Given the description of an element on the screen output the (x, y) to click on. 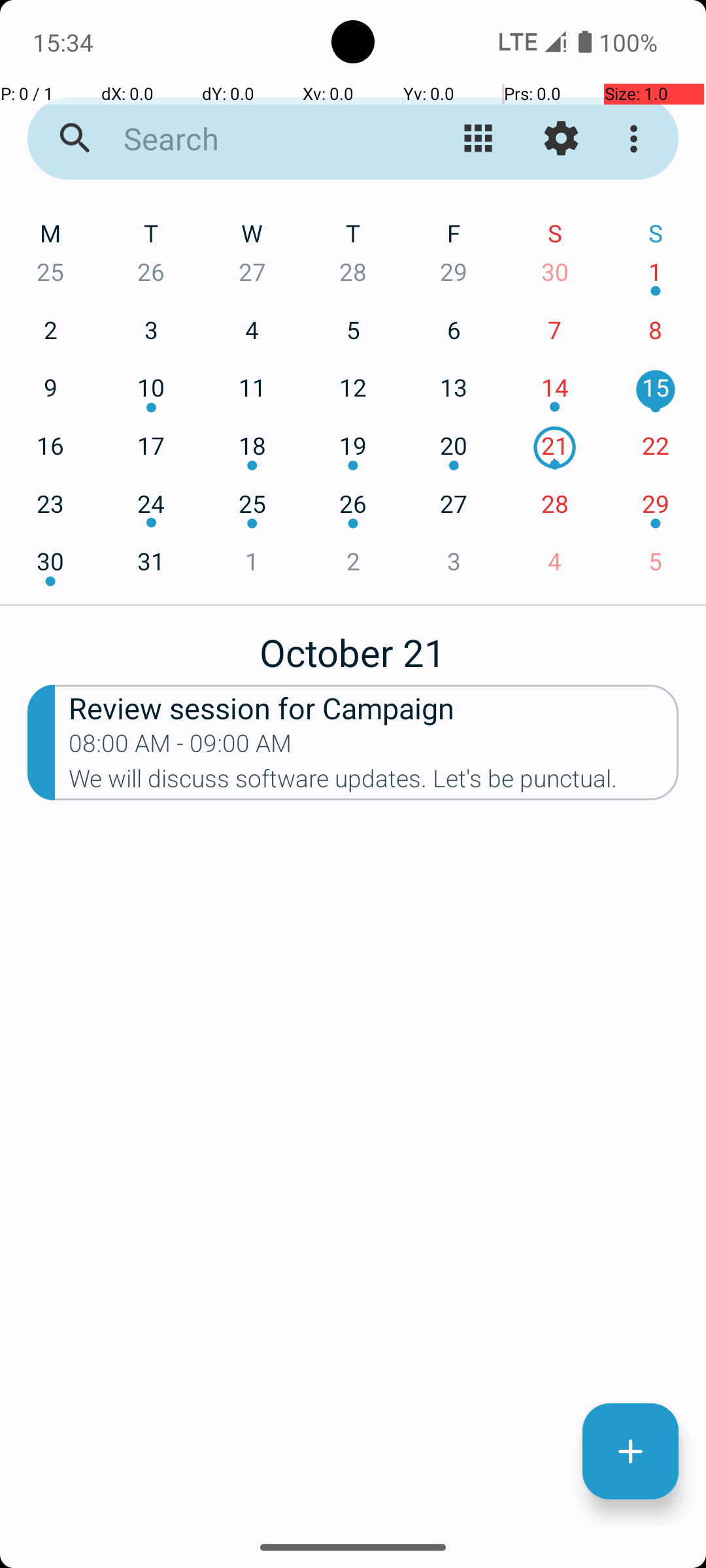
October 21 Element type: android.widget.TextView (352, 644)
08:00 AM - 09:00 AM Element type: android.widget.TextView (179, 747)
We will discuss software updates. Let's be punctual. Element type: android.widget.TextView (373, 782)
